Given the description of an element on the screen output the (x, y) to click on. 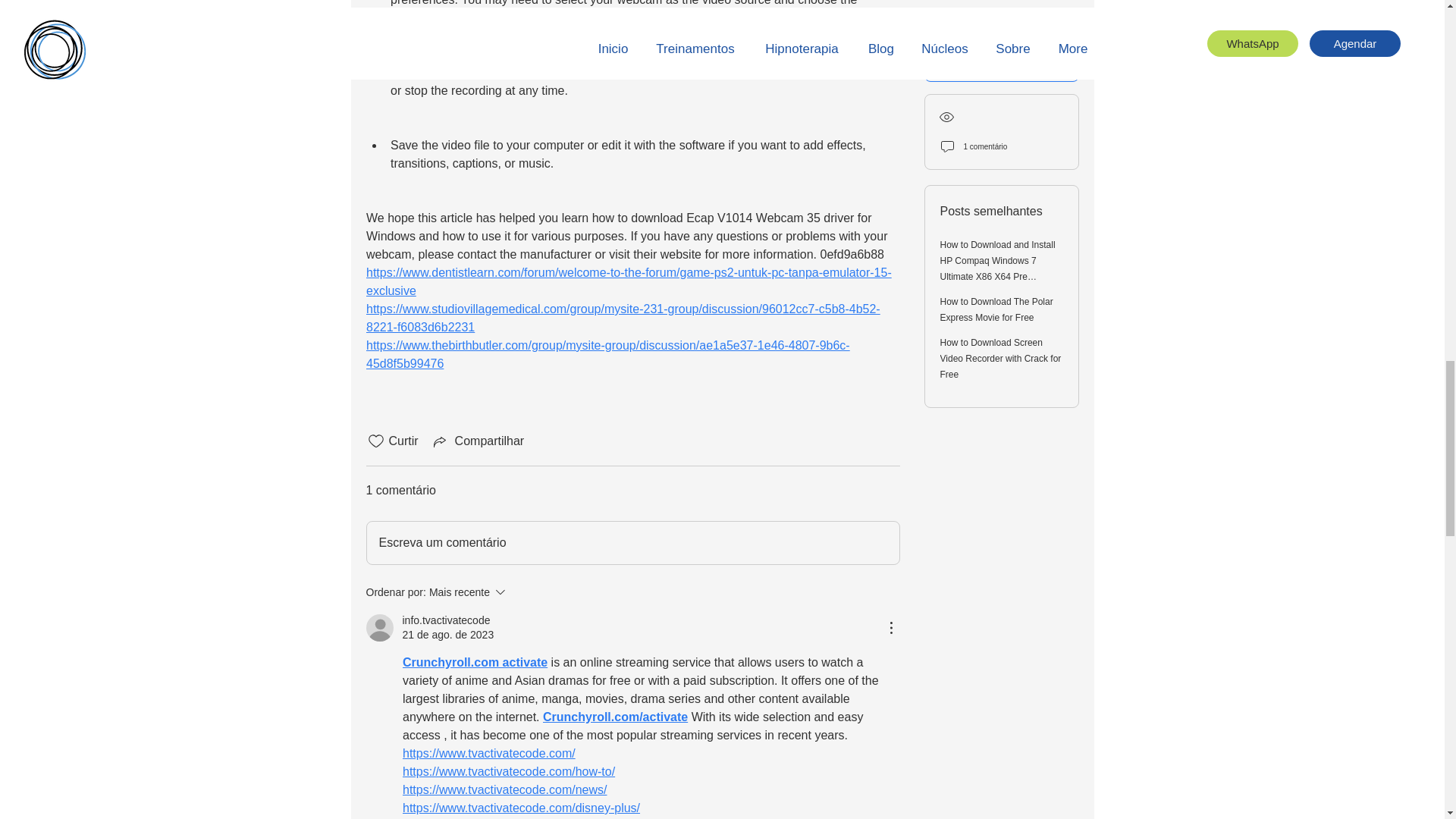
info.tvactivatecode (445, 620)
Crunchyroll.com activate (471, 592)
Compartilhar (474, 662)
